Given the description of an element on the screen output the (x, y) to click on. 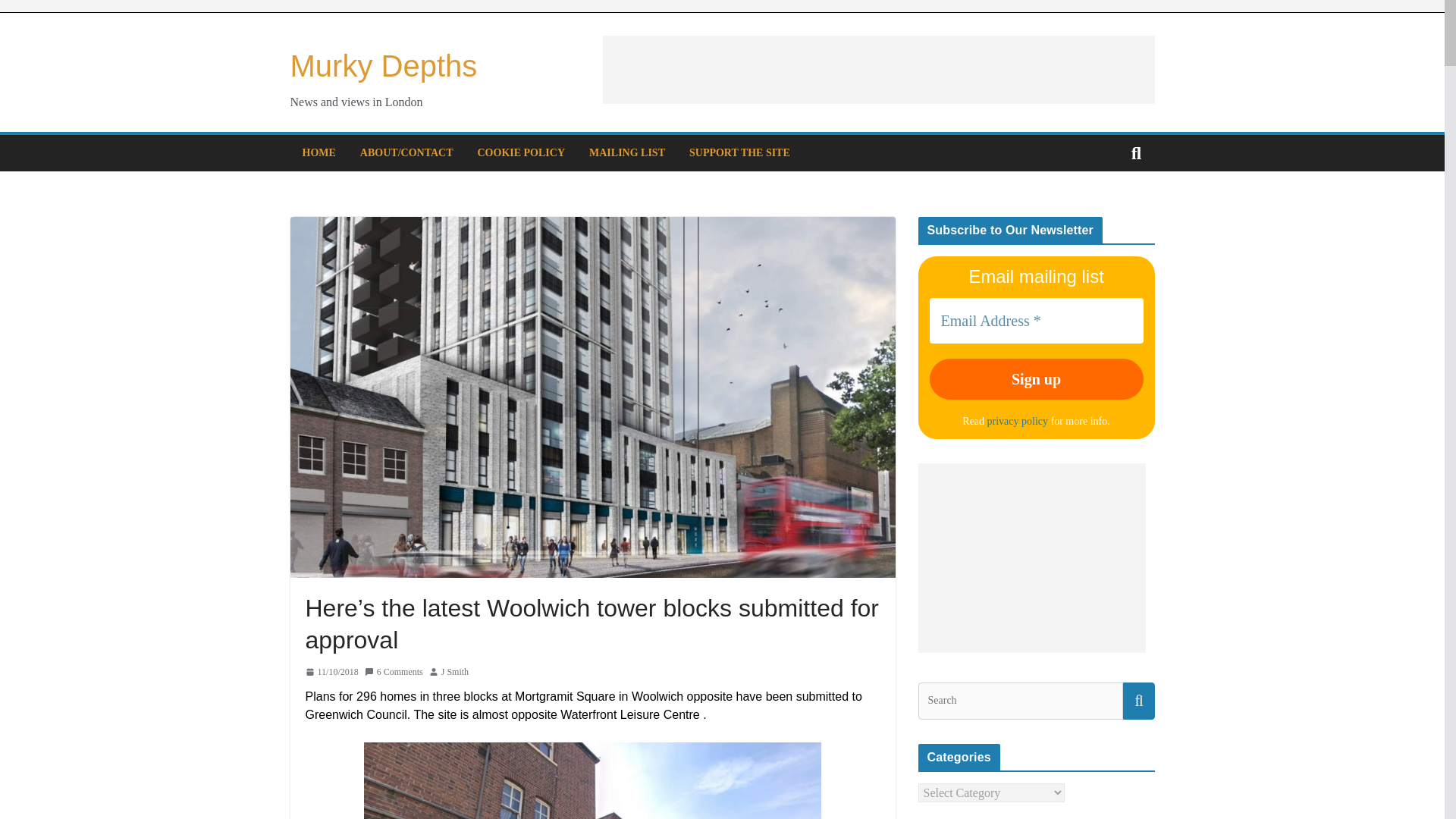
09:59 (331, 671)
Sign up (1036, 378)
Murky Depths (383, 65)
J Smith (454, 671)
COOKIE POLICY (521, 152)
Murky Depths (383, 65)
SUPPORT THE SITE (739, 152)
MAILING LIST (627, 152)
6 Comments (394, 671)
J Smith (454, 671)
HOME (317, 152)
Advertisement (878, 70)
